Given the description of an element on the screen output the (x, y) to click on. 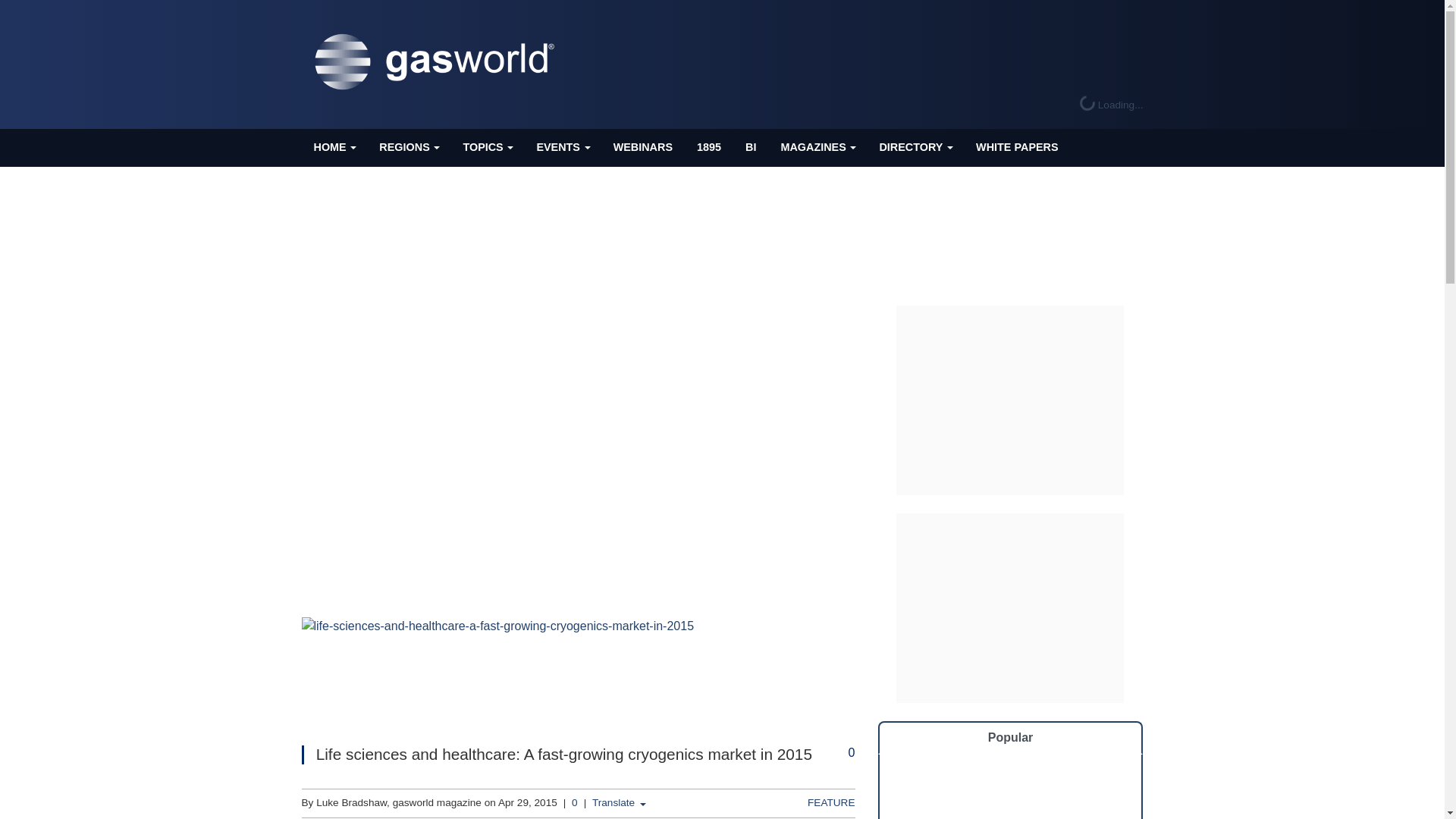
gasworld (438, 62)
TOPICS (486, 146)
Regions (407, 146)
Topics (486, 146)
HOME (334, 146)
Home (334, 146)
REGIONS (407, 146)
